Given the description of an element on the screen output the (x, y) to click on. 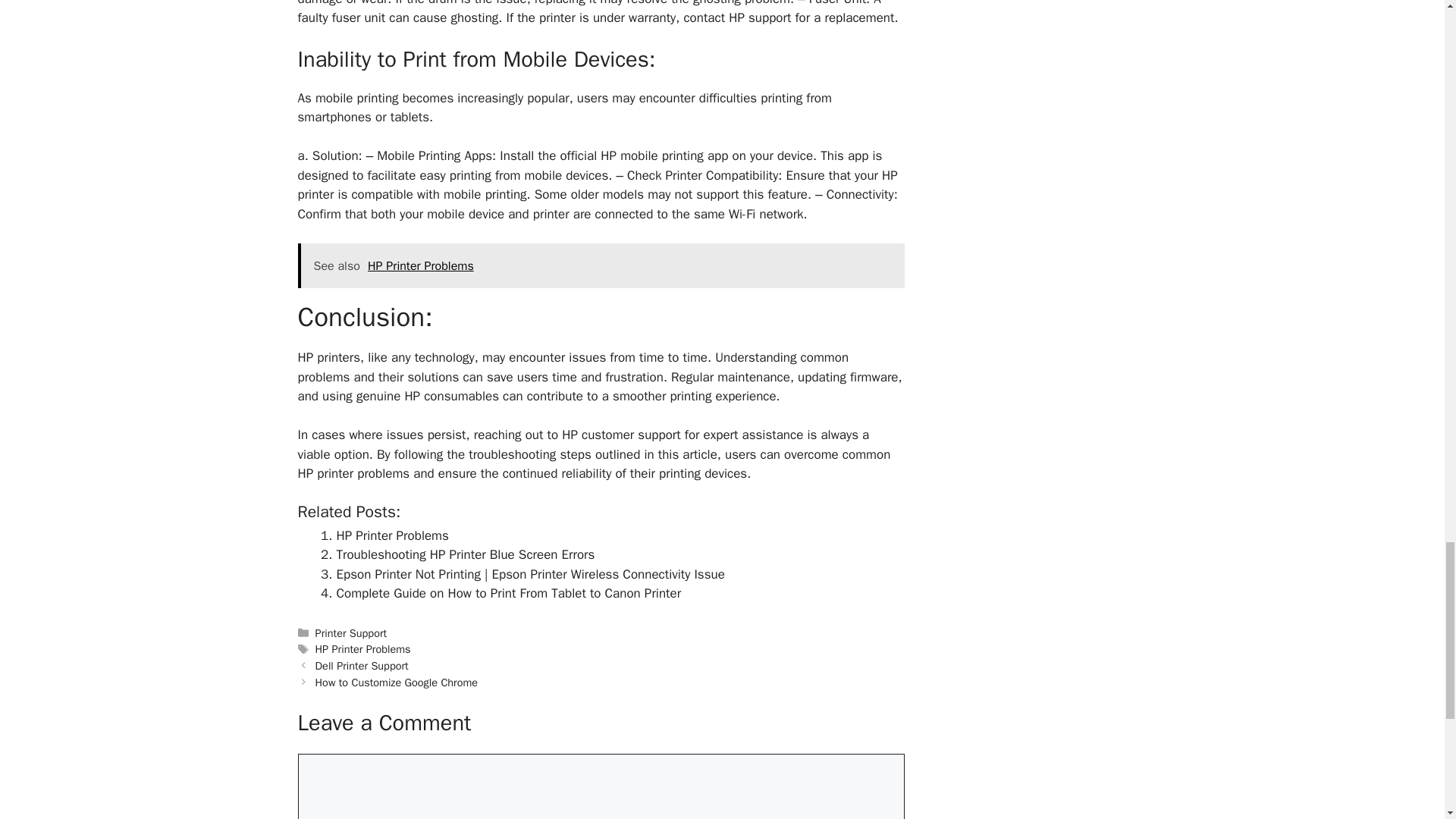
HP printer problems (353, 473)
Complete Guide on How to Print From Tablet to Canon Printer (508, 593)
Troubleshooting HP Printer Blue Screen Errors (465, 554)
Complete Guide on How to Print From Tablet to Canon Printer (508, 593)
HP Printer Problems (392, 535)
HP printers (328, 357)
See also  HP Printer Problems (600, 266)
HP printer (596, 185)
HP printers (328, 357)
HP printer (596, 185)
HP Printer Problems (392, 535)
Troubleshooting HP Printer Blue Screen Errors (465, 554)
